Given the description of an element on the screen output the (x, y) to click on. 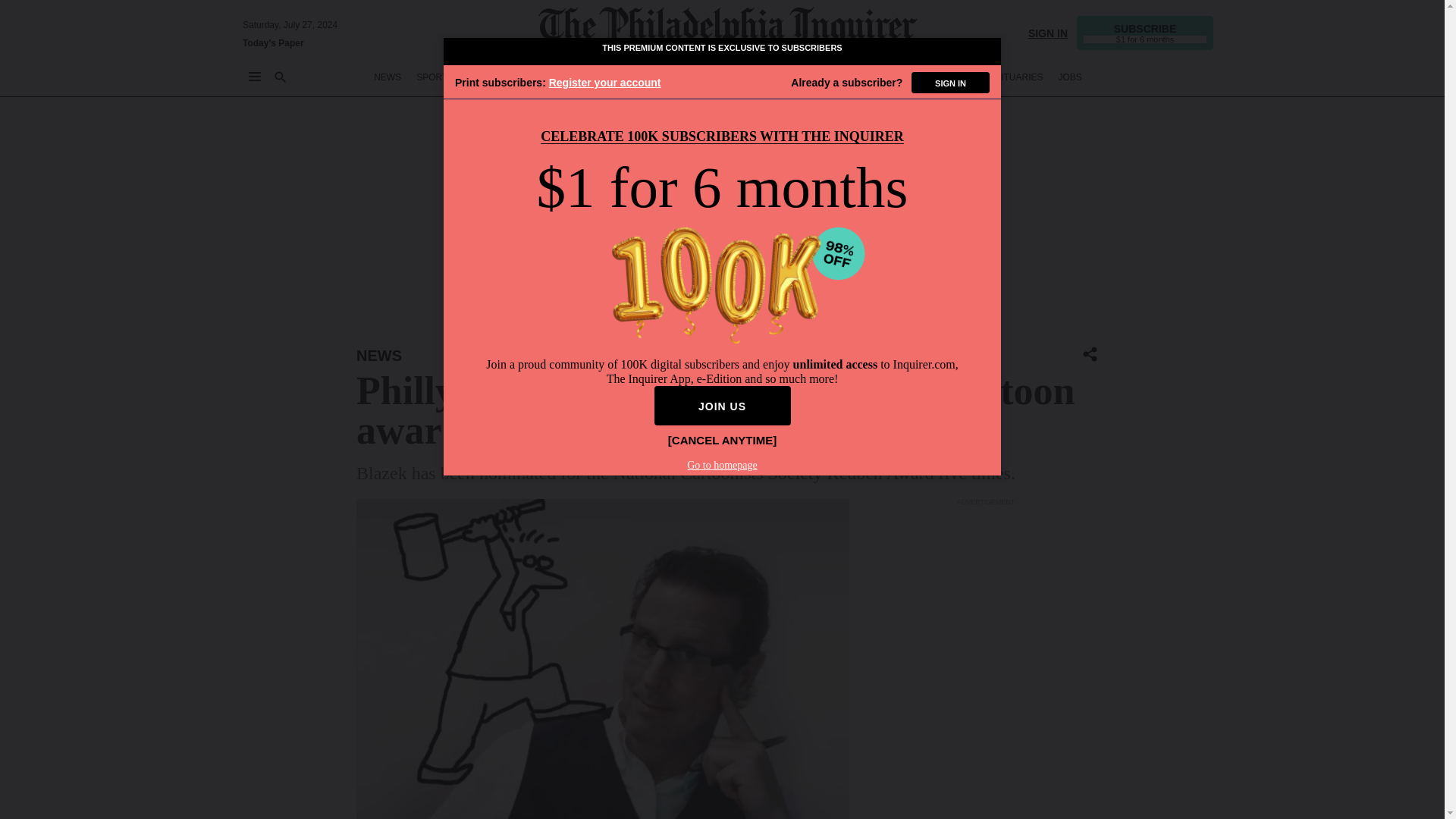
SPORTS (434, 77)
JOBS (1069, 77)
LIFE (795, 77)
ENTERTAINMENT (732, 77)
OBITUARIES (1015, 77)
SIGN IN (1047, 32)
3rd party ad content (985, 603)
OPINION (604, 77)
REAL ESTATE (942, 77)
SUBSCRIBE (1144, 32)
BETTING (488, 77)
HEALTH (878, 77)
NEWS (378, 355)
POLITICS (659, 77)
Share Icon (1090, 354)
